Given the description of an element on the screen output the (x, y) to click on. 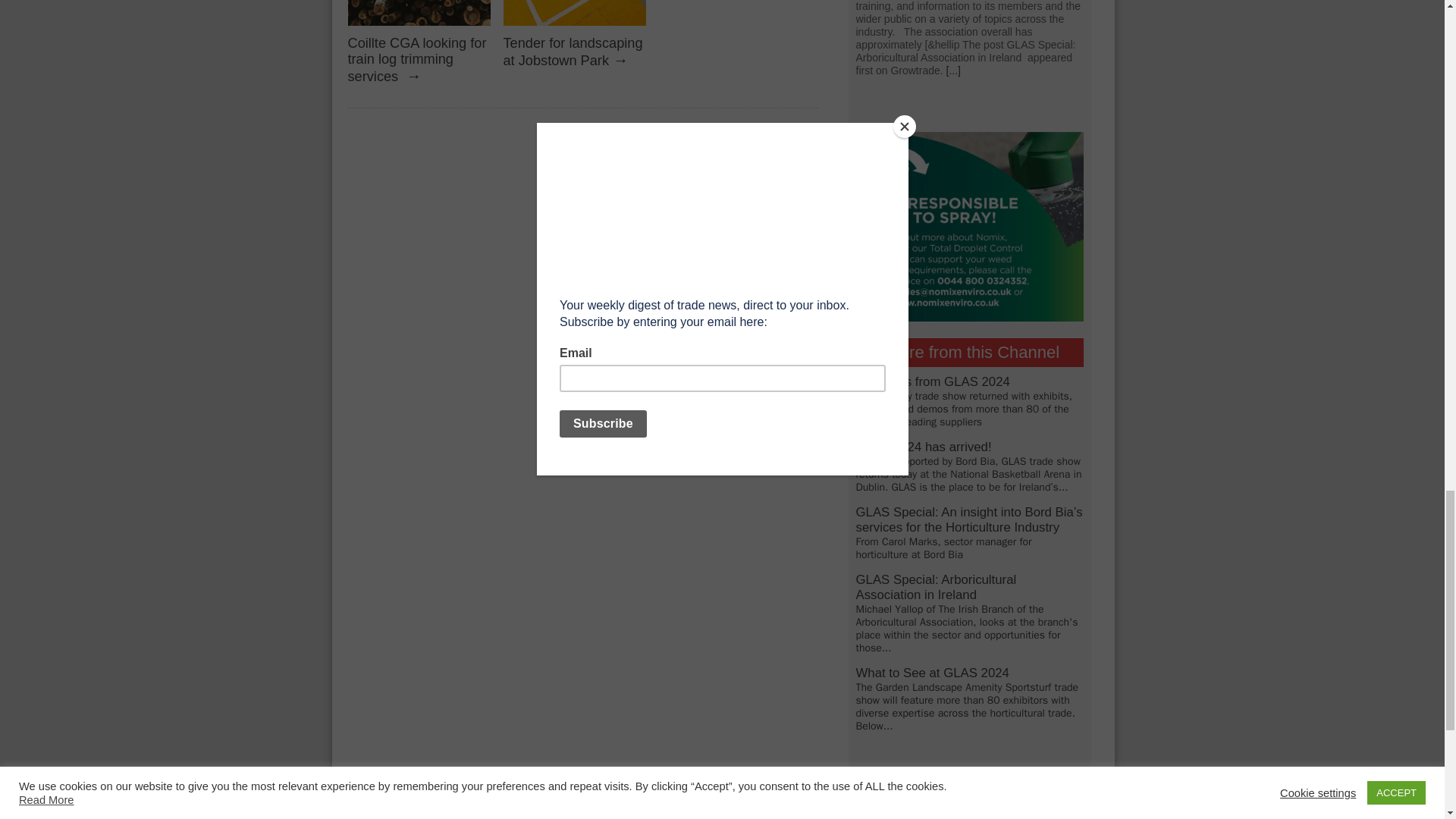
Read more (953, 70)
Tender for landscaping at Jobstown Park (574, 29)
Tender for landscaping at Jobstown Park (573, 51)
